Given the description of an element on the screen output the (x, y) to click on. 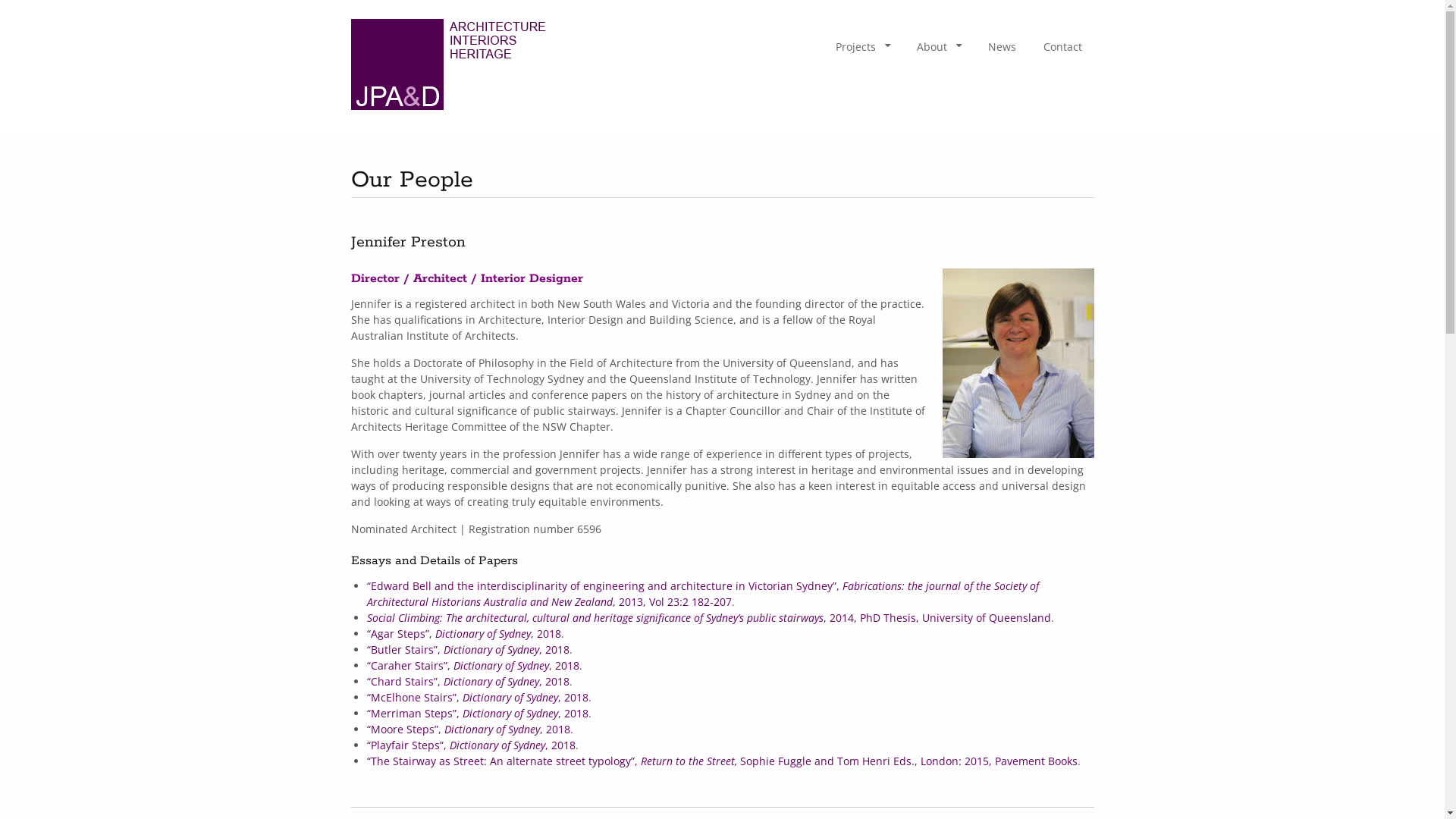
Contact Element type: text (1062, 46)
Skip to content Element type: text (835, 38)
News Element type: text (1001, 46)
Projects Element type: text (862, 46)
About Element type: text (937, 46)
